Given the description of an element on the screen output the (x, y) to click on. 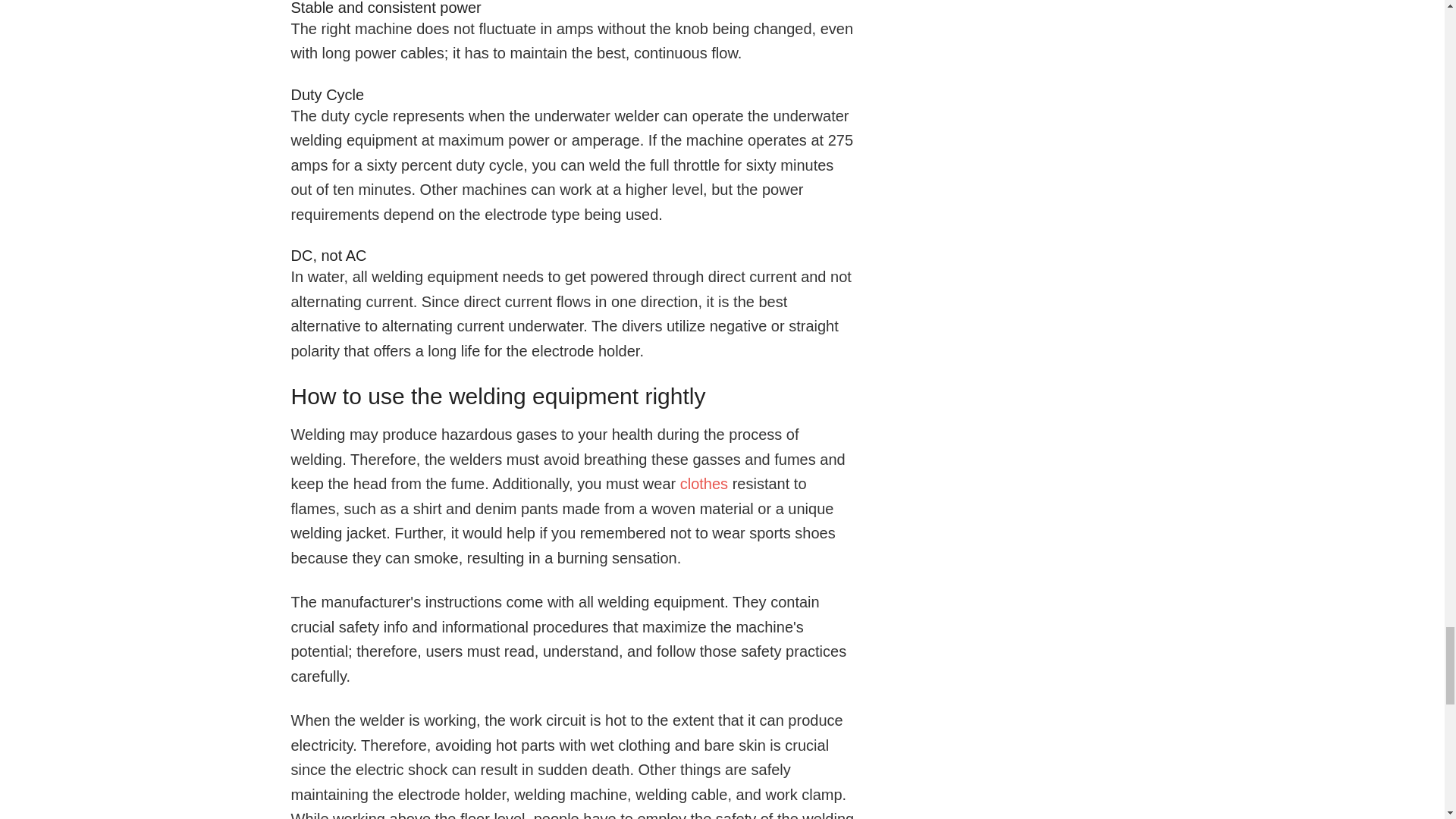
clothes (703, 483)
